Given the description of an element on the screen output the (x, y) to click on. 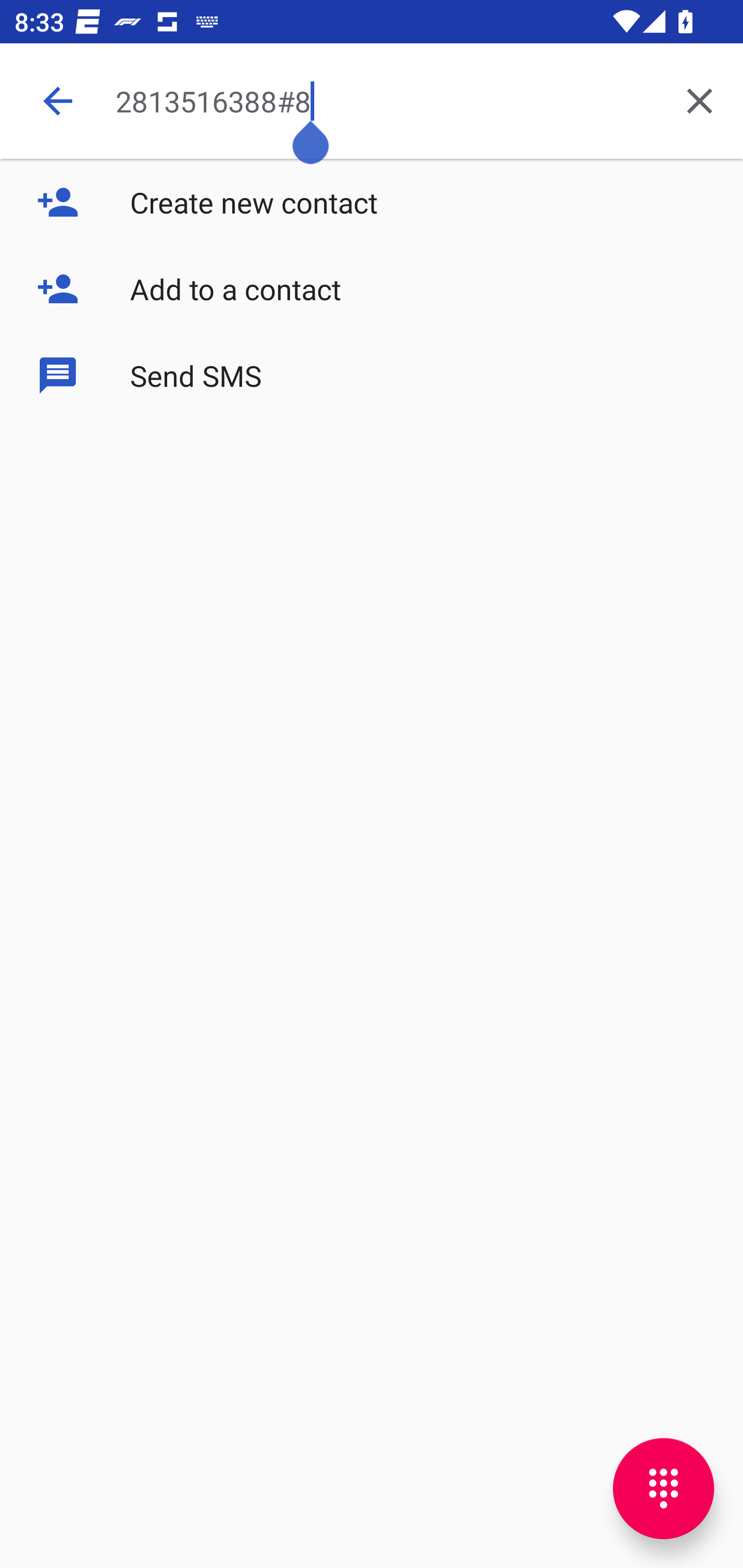
stop searching (57, 101)
2813516388#8 (385, 101)
Clear search (699, 101)
Create new contact (371, 202)
Add to a contact (371, 289)
Send SMS (371, 375)
key pad (663, 1488)
